Given the description of an element on the screen output the (x, y) to click on. 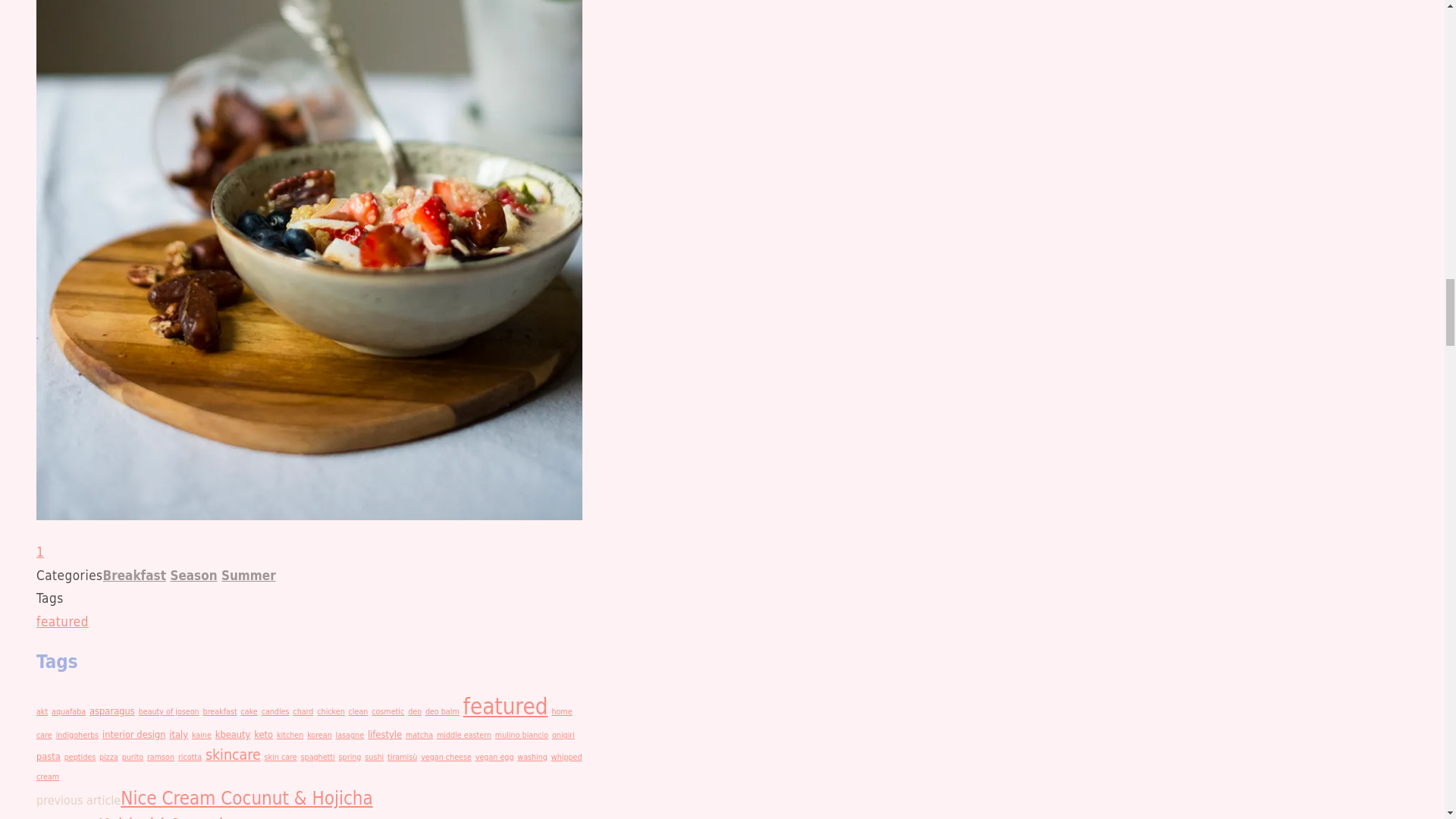
cosmetic (387, 711)
asparagus (111, 710)
chicken (330, 711)
clean (358, 711)
featured (62, 621)
interior design (133, 734)
akt (42, 711)
beauty of joseon (168, 711)
candles (275, 711)
breakfast (220, 711)
